Given the description of an element on the screen output the (x, y) to click on. 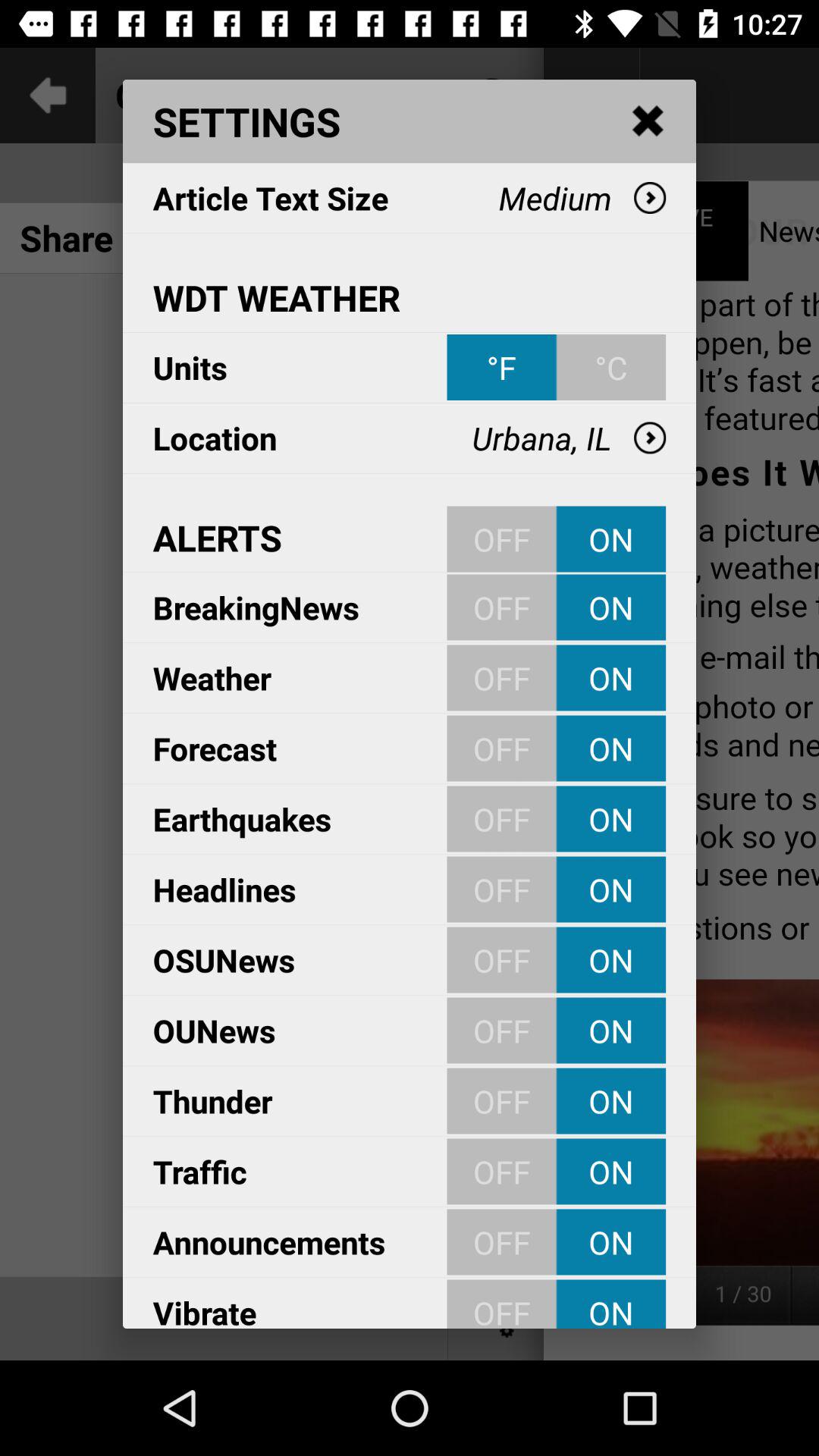
go to close button (648, 121)
